Given the description of an element on the screen output the (x, y) to click on. 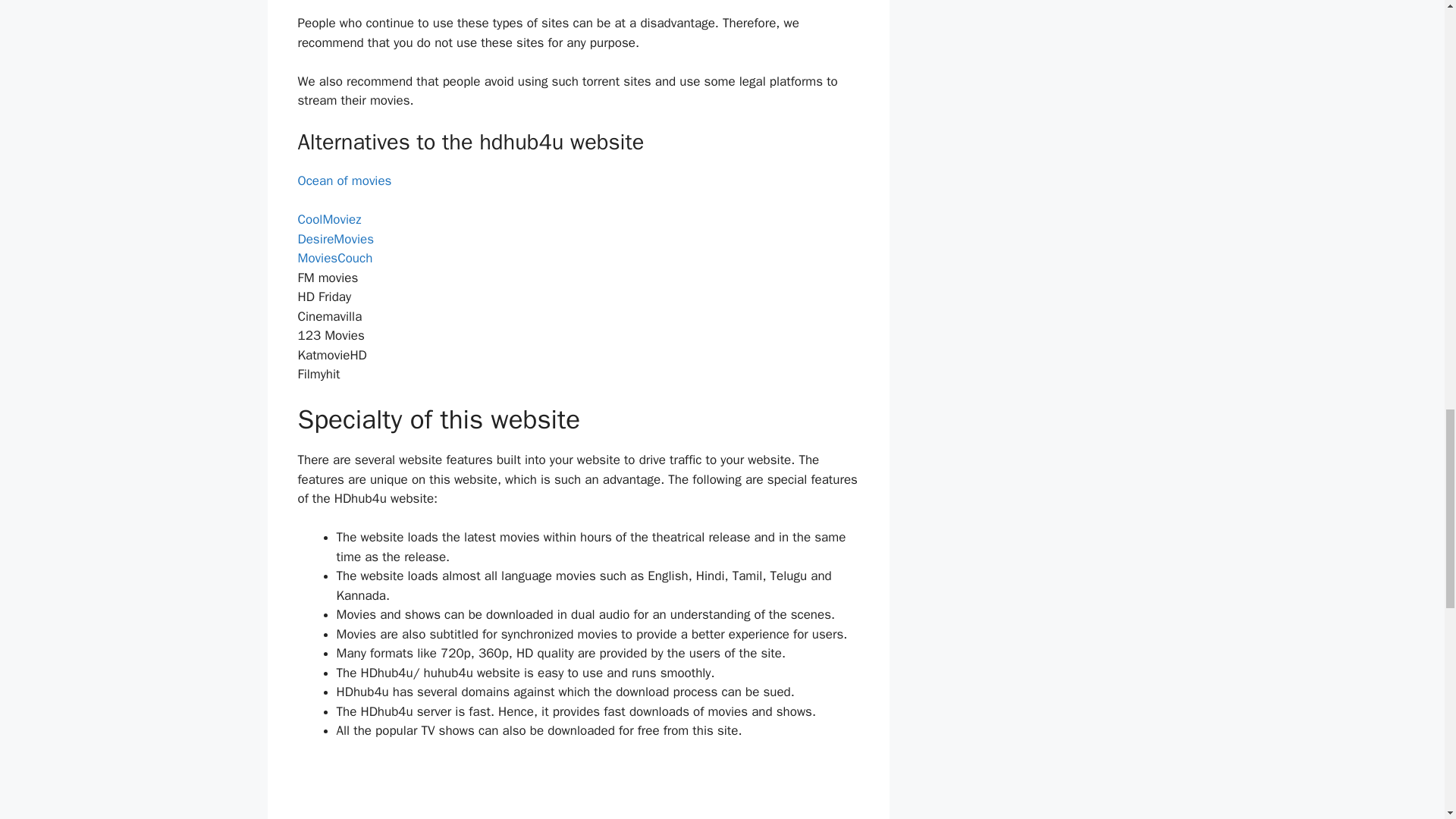
MoviesCouch (334, 258)
DesireMovies (335, 238)
CoolMoviez (329, 219)
Ocean of movies (344, 180)
